Given the description of an element on the screen output the (x, y) to click on. 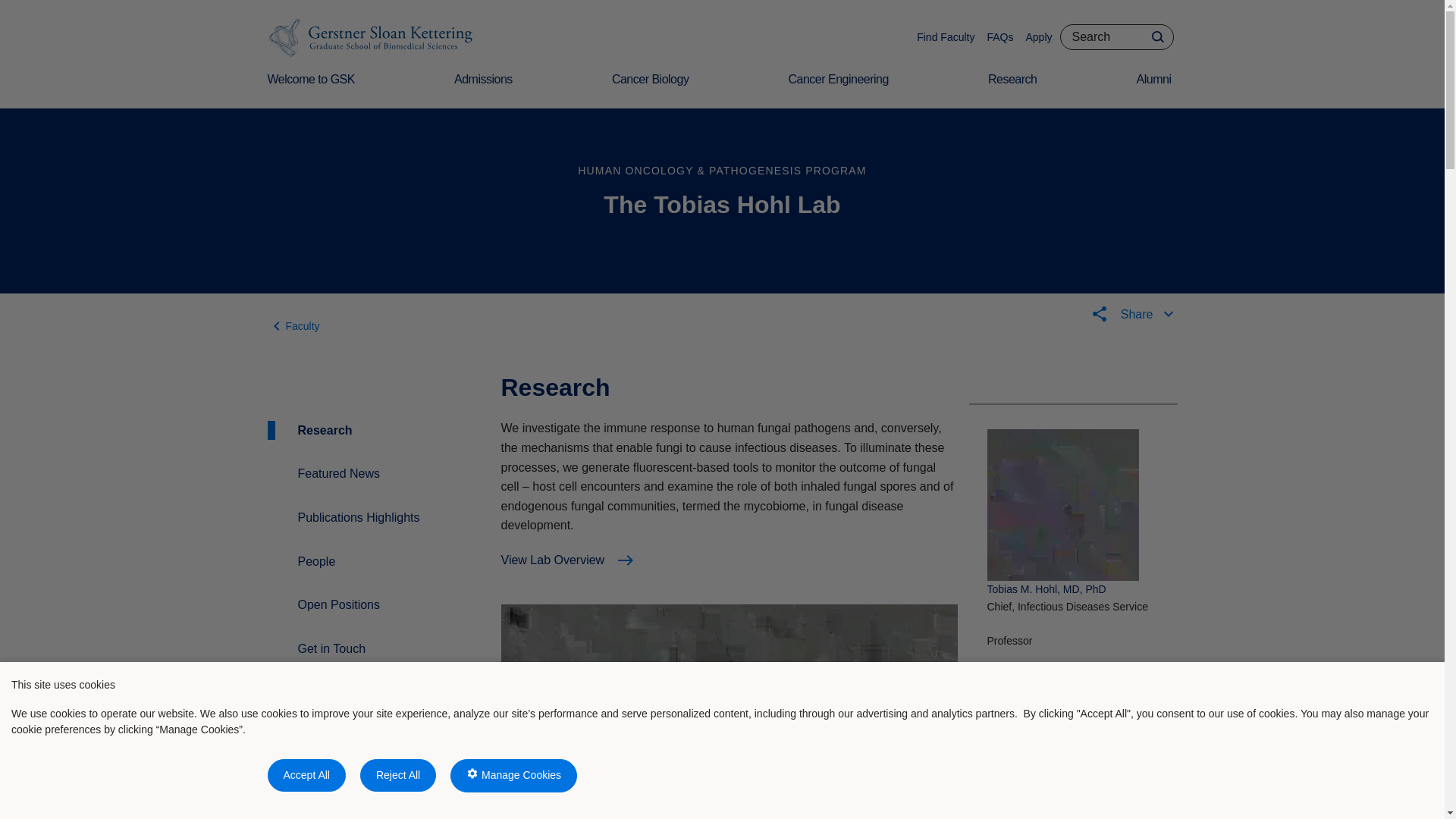
Faculty (292, 325)
FAQs (1000, 37)
Publications Highlights (358, 517)
Open Positions (338, 605)
Cancer Biology (653, 88)
Find Faculty (945, 37)
Insert a query. Press enter to send (1115, 37)
Alumni (1157, 88)
Reject All (397, 775)
People (315, 561)
Featured News (338, 474)
Apply (1038, 37)
Research (1015, 88)
Manage Cookies (512, 775)
